Given the description of an element on the screen output the (x, y) to click on. 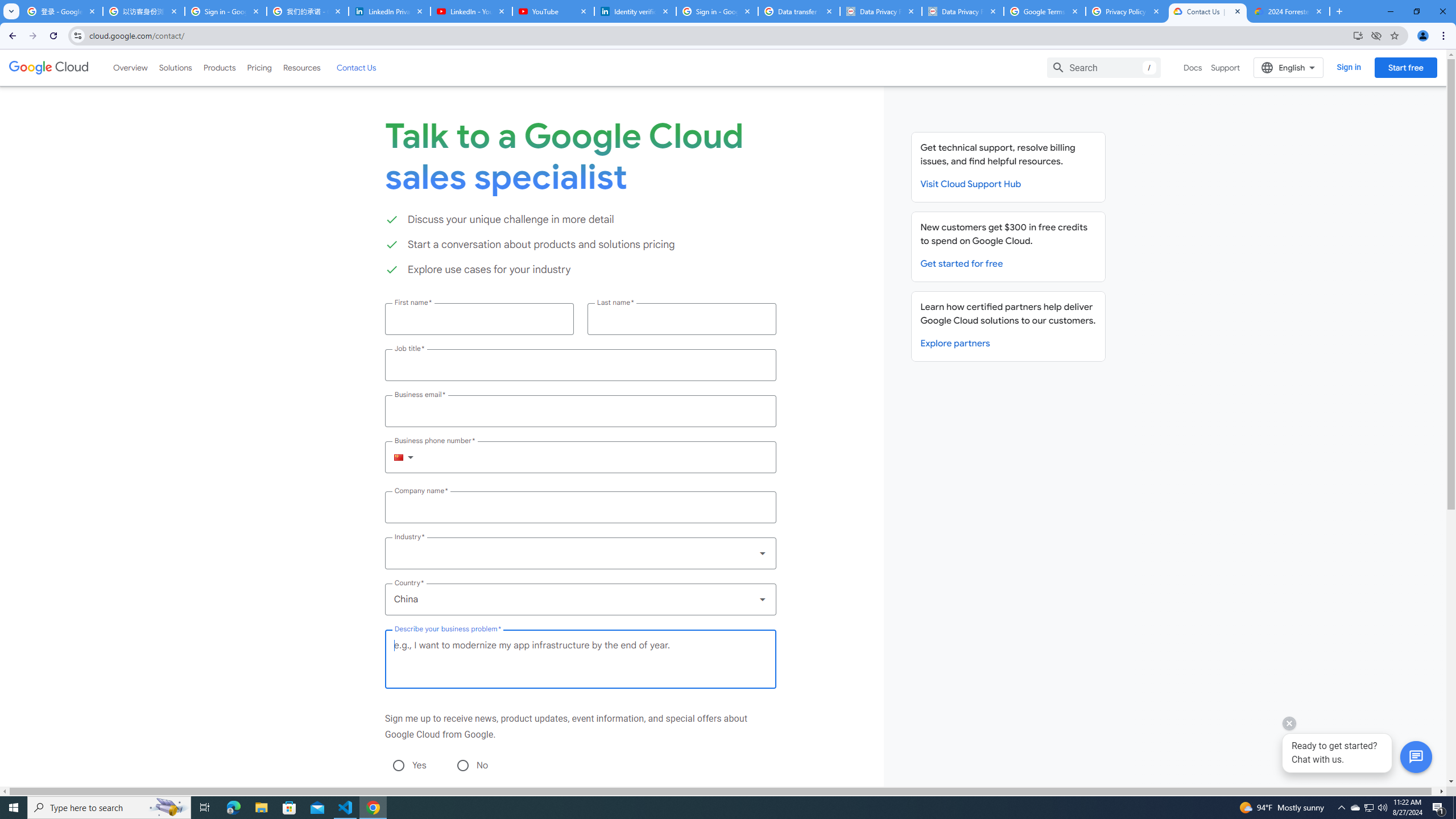
LinkedIn Privacy Policy (389, 11)
Last name * (681, 318)
English (1288, 67)
Sign in - Google Accounts (225, 11)
